Given the description of an element on the screen output the (x, y) to click on. 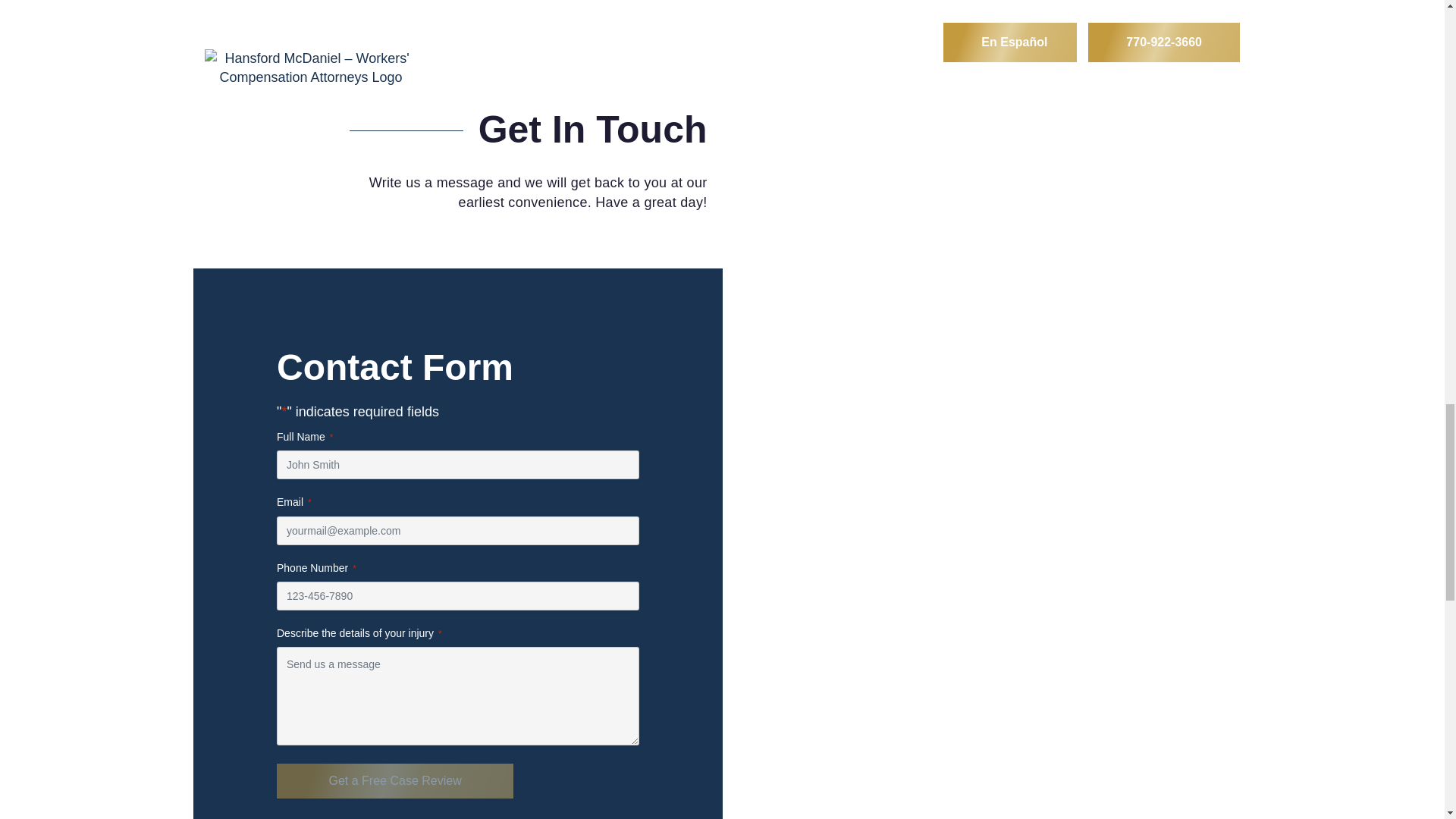
Get a Free Case Review (394, 780)
